Given the description of an element on the screen output the (x, y) to click on. 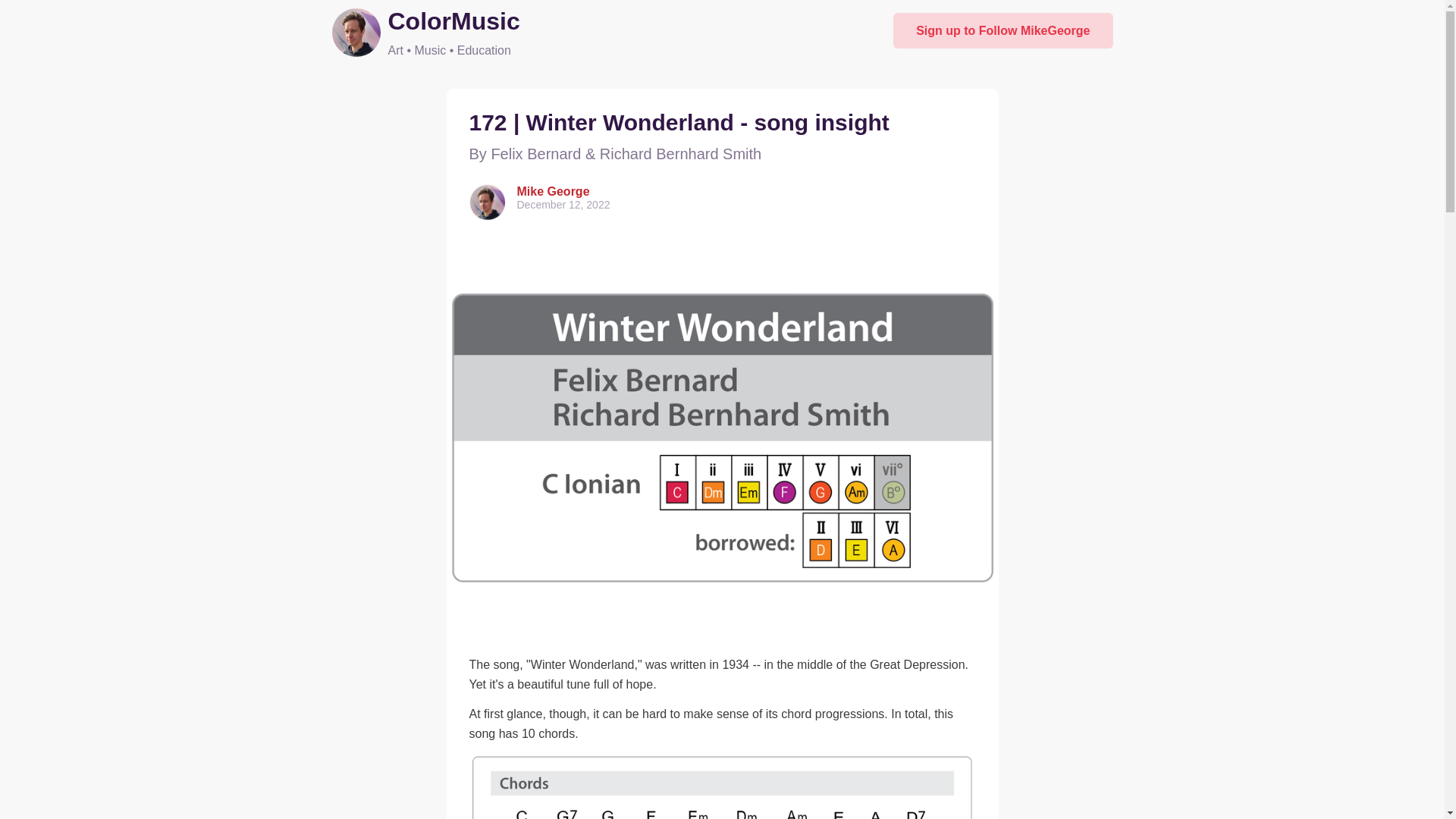
Mike George (552, 191)
Sign up to Follow MikeGeorge (1002, 30)
